Given the description of an element on the screen output the (x, y) to click on. 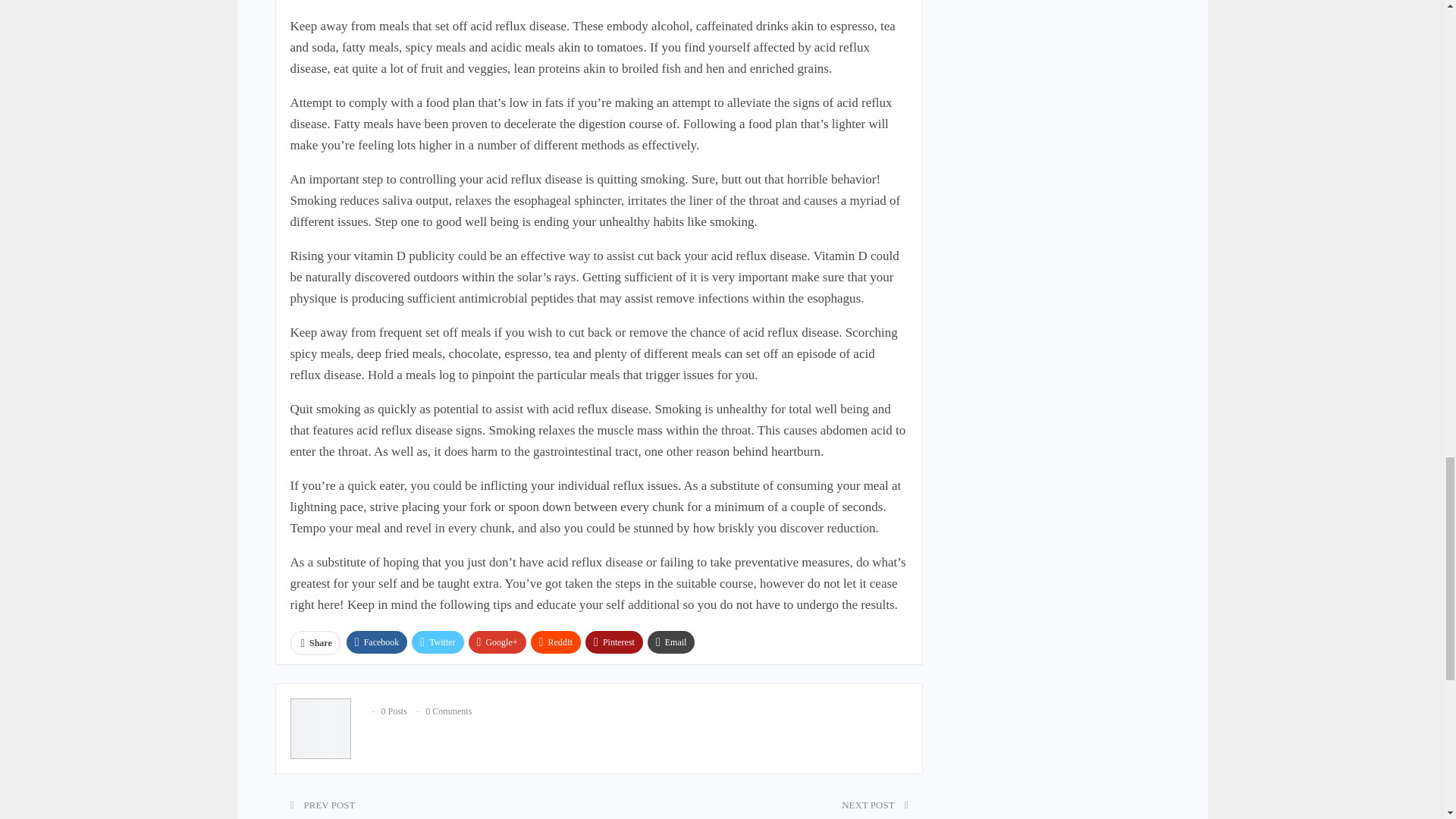
Pinterest (614, 641)
Twitter (437, 641)
ReddIt (555, 641)
Email (671, 641)
Facebook (376, 641)
